Given the description of an element on the screen output the (x, y) to click on. 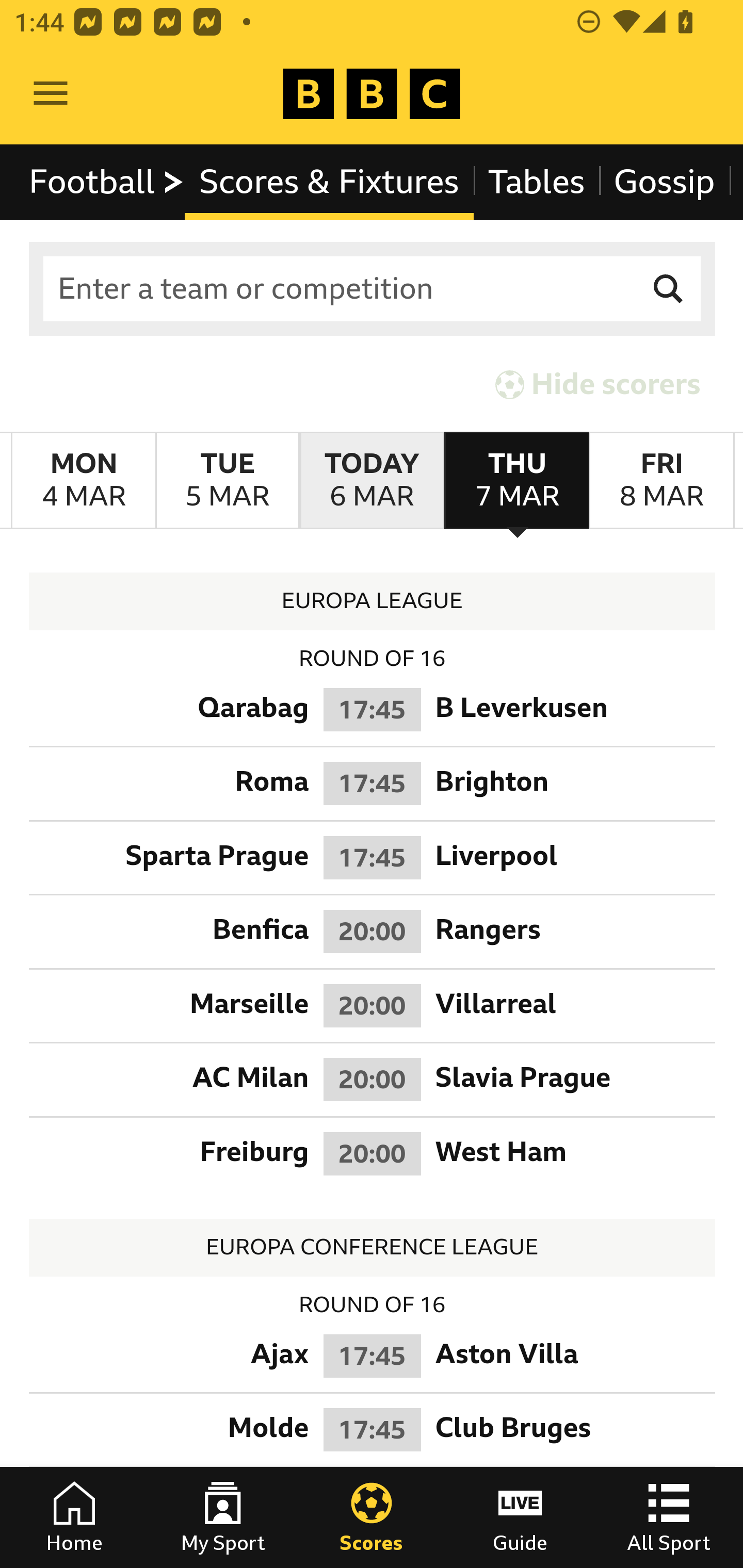
Open Menu (50, 93)
Football  (106, 181)
Scores & Fixtures (329, 181)
Tables (536, 181)
Gossip (664, 181)
Search (669, 289)
Hide scorers (598, 383)
MondayMarch 4th Monday March 4th (83, 480)
TuesdayMarch 5th Tuesday March 5th (227, 480)
TodayMarch 6th Today March 6th (371, 480)
FridayMarch 8th Friday March 8th (661, 480)
Home (74, 1517)
My Sport (222, 1517)
Guide (519, 1517)
All Sport (668, 1517)
